Given the description of an element on the screen output the (x, y) to click on. 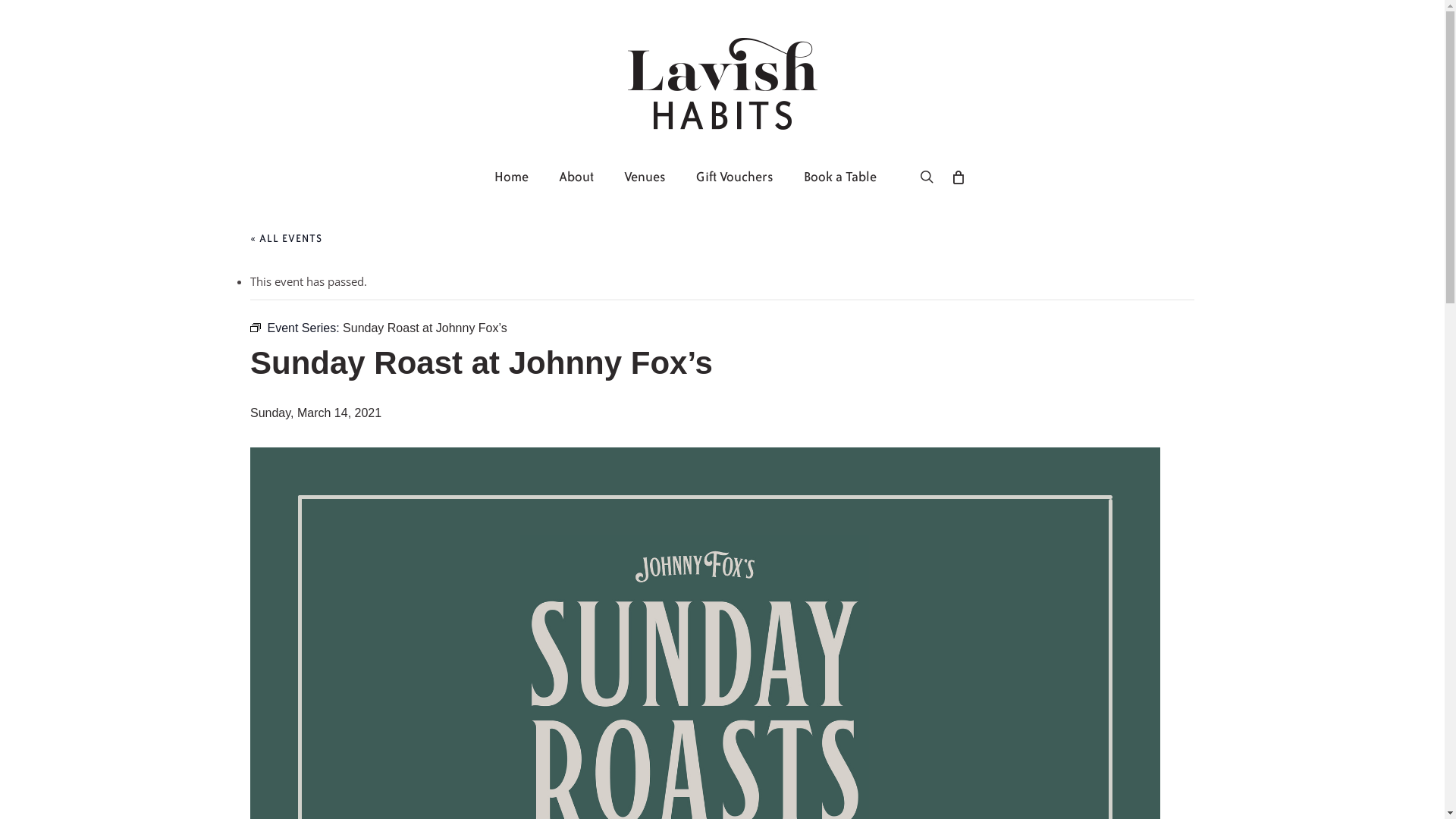
Home Element type: text (511, 176)
About Element type: text (575, 176)
Venues Element type: text (644, 176)
Book a Table Element type: text (839, 176)
search Element type: text (926, 176)
Gift Vouchers Element type: text (734, 176)
